Given the description of an element on the screen output the (x, y) to click on. 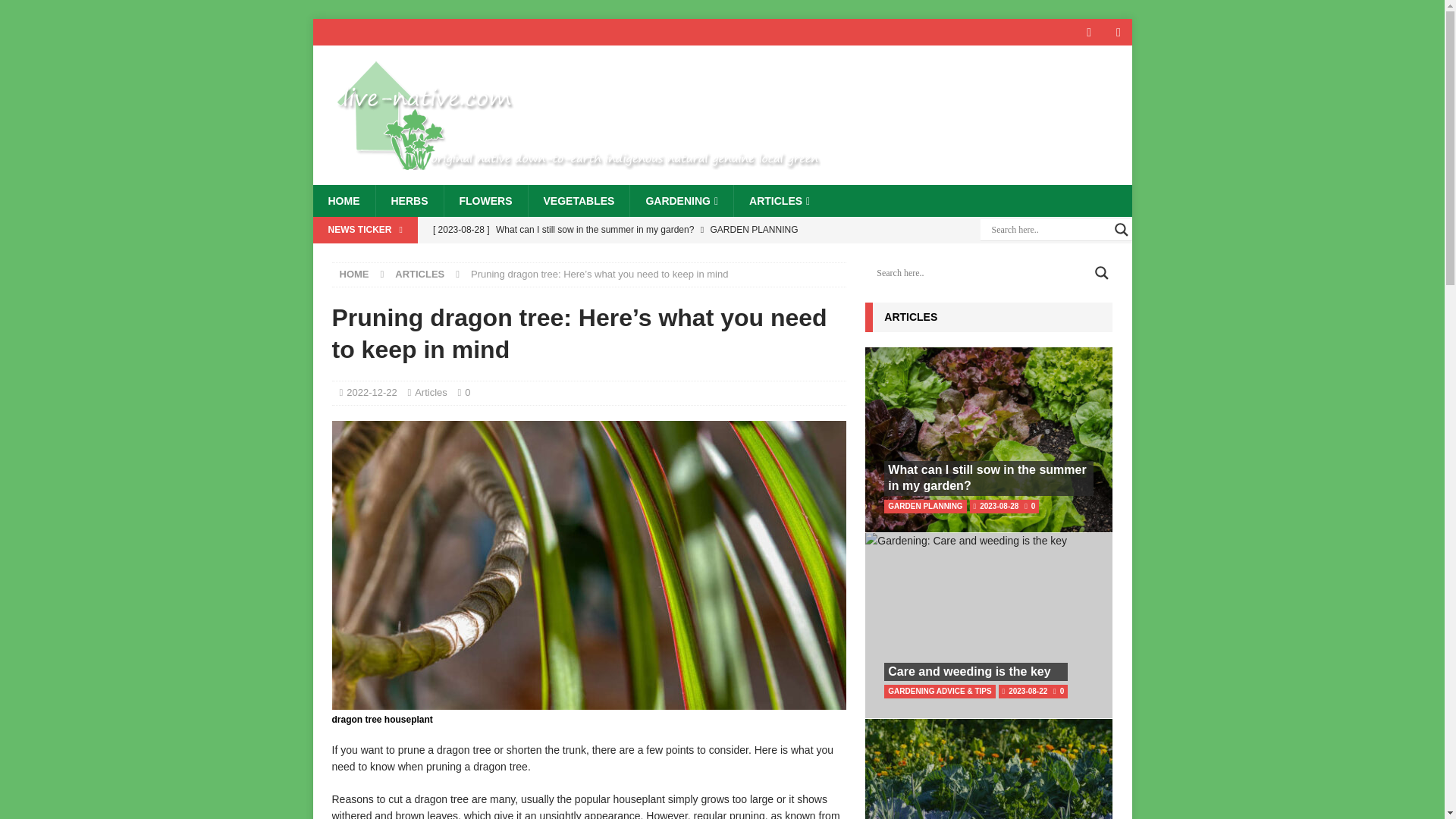
ARTICLES (779, 201)
ARTICLES (419, 274)
What can I still sow in the summer in my garden? (634, 229)
FLOWERS (485, 201)
HOME (354, 274)
Articles (430, 392)
HOME (343, 201)
HERBS (408, 201)
VEGETABLES (578, 201)
